Given the description of an element on the screen output the (x, y) to click on. 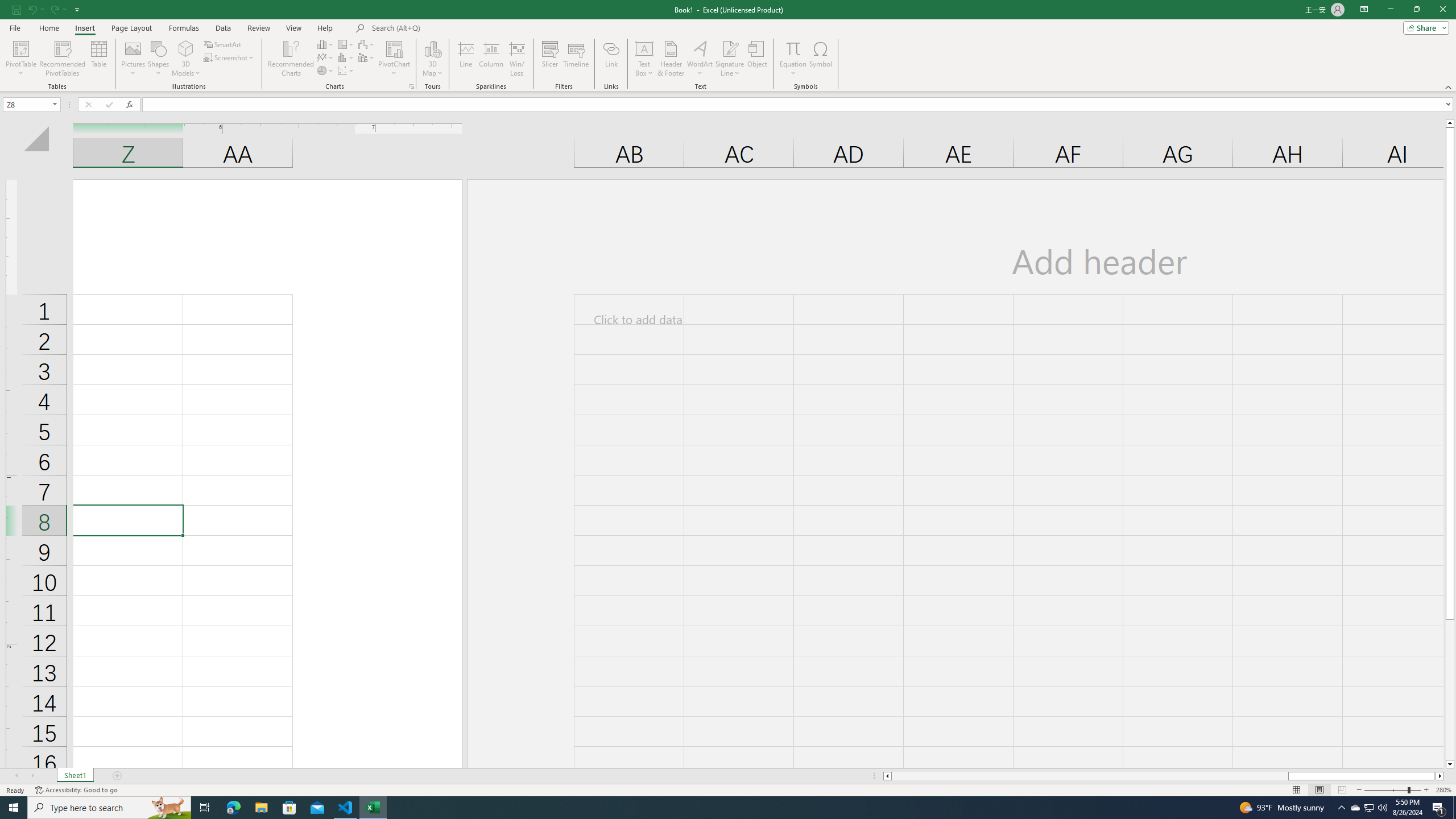
Win/Loss (516, 58)
Column (491, 58)
Equation (793, 58)
Insert Statistic Chart (346, 56)
Formula Bar (798, 104)
Line (465, 58)
Insert Line or Area Chart (325, 56)
Recommended Charts (411, 85)
3D Models (186, 58)
3D Map (432, 48)
WordArt (699, 58)
PivotTable (20, 58)
